Given the description of an element on the screen output the (x, y) to click on. 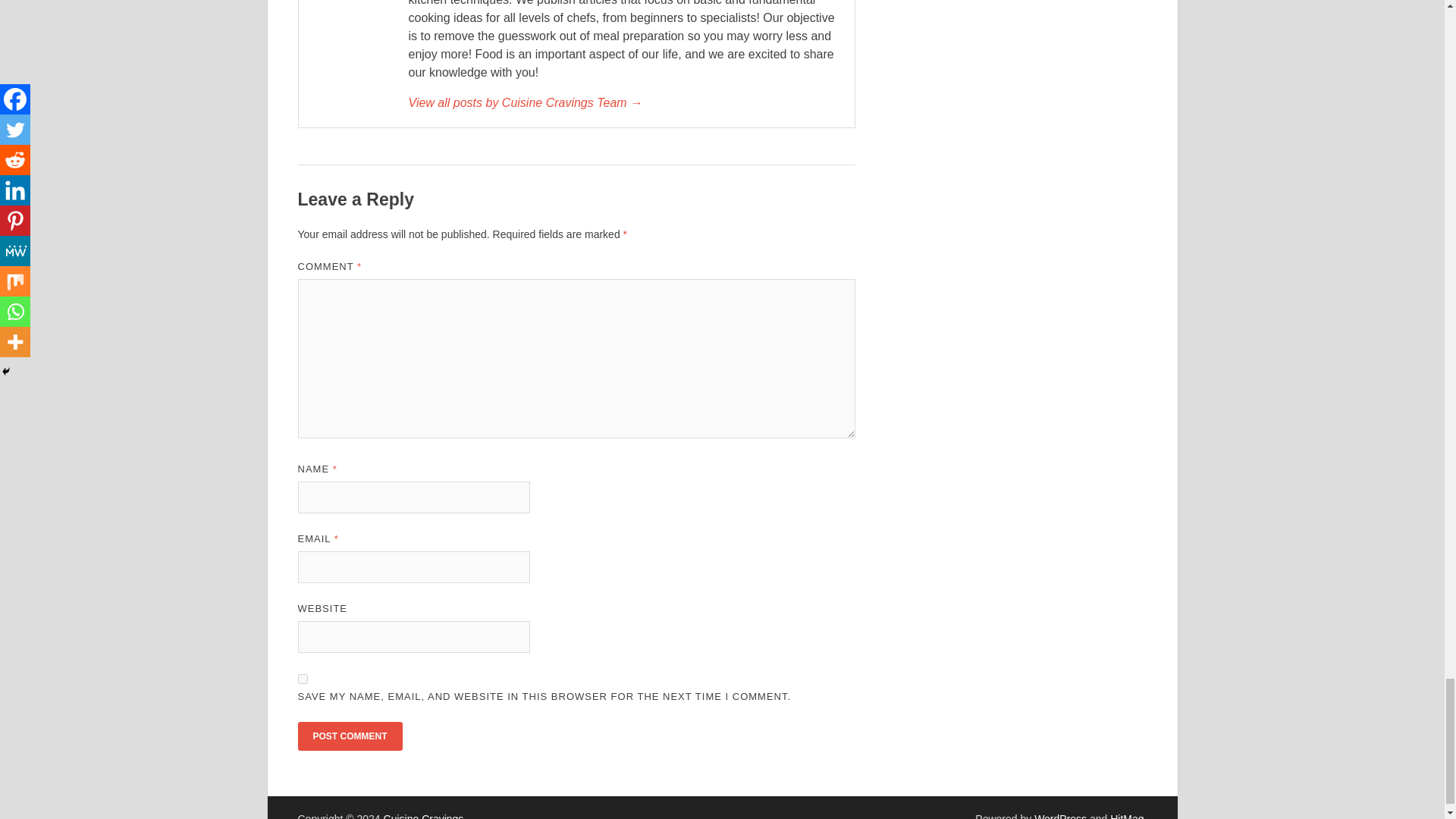
Post Comment (349, 736)
yes (302, 678)
